Given the description of an element on the screen output the (x, y) to click on. 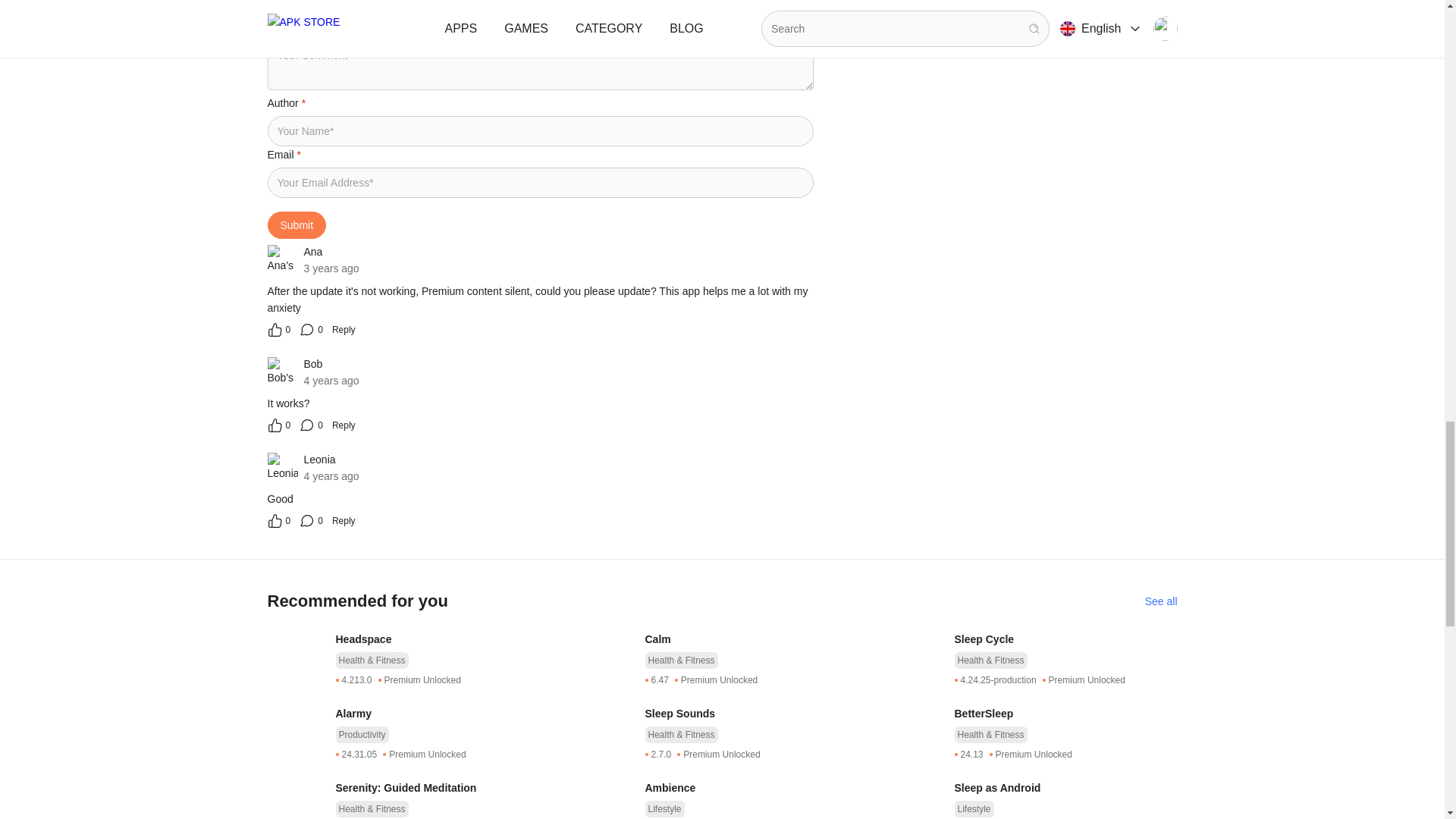
Similar app (1160, 600)
Sleep Cycle (1064, 638)
Calm (756, 638)
Submit (296, 225)
Submit (296, 225)
Headspace (445, 638)
